Given the description of an element on the screen output the (x, y) to click on. 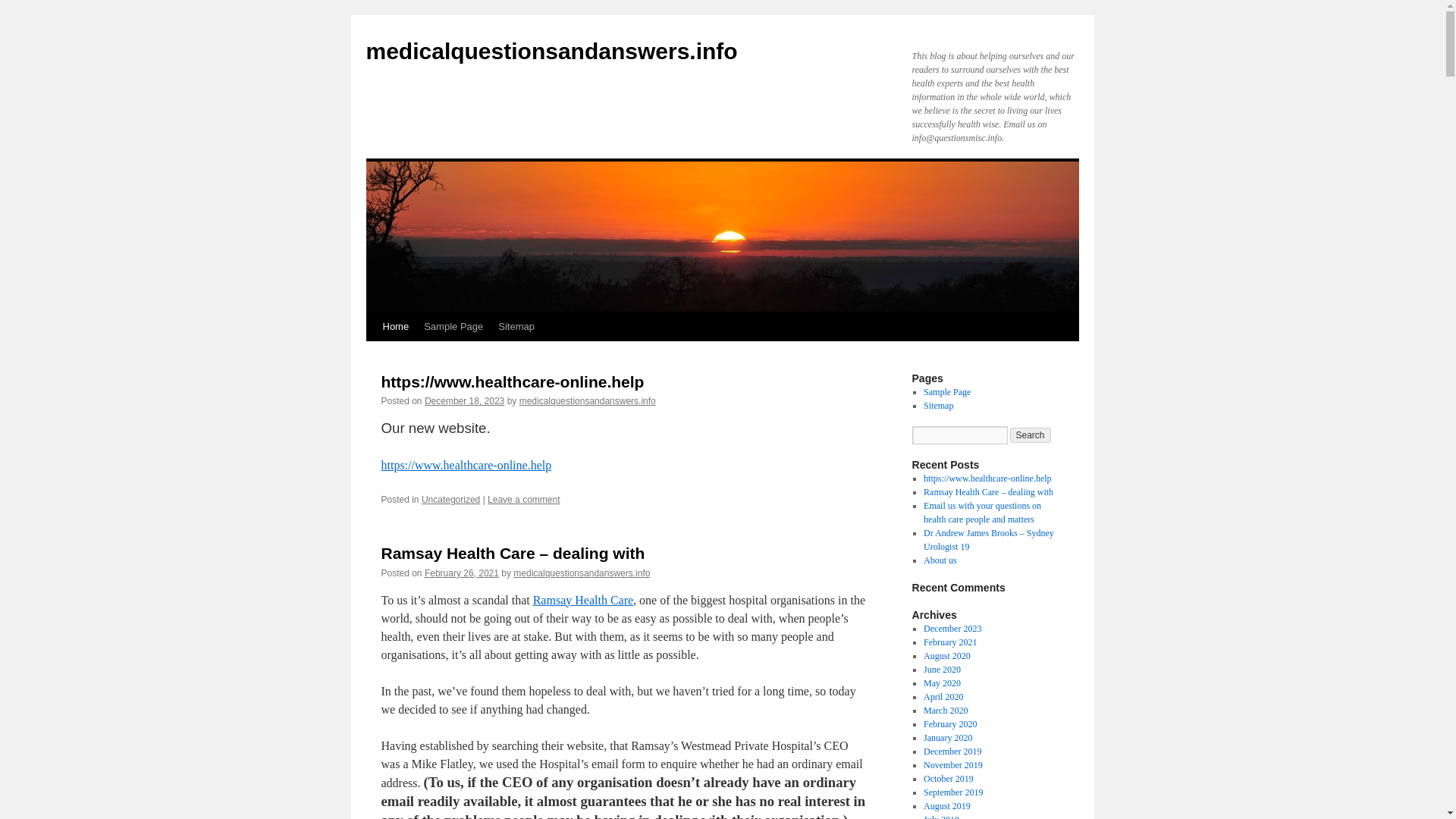
medicalquestionsandanswers.info (550, 50)
medicalquestionsandanswers.info (550, 50)
View all posts by medicalquestionsandanswers.info (587, 400)
2:11 pm (464, 400)
medicalquestionsandanswers.info (581, 573)
8:19 pm (462, 573)
Home (395, 326)
View all posts by medicalquestionsandanswers.info (581, 573)
Uncategorized (451, 499)
February 26, 2021 (462, 573)
Ramsay Health Care (582, 599)
December 18, 2023 (464, 400)
Leave a comment (523, 499)
Search (1030, 435)
Sample Page (453, 326)
